Given the description of an element on the screen output the (x, y) to click on. 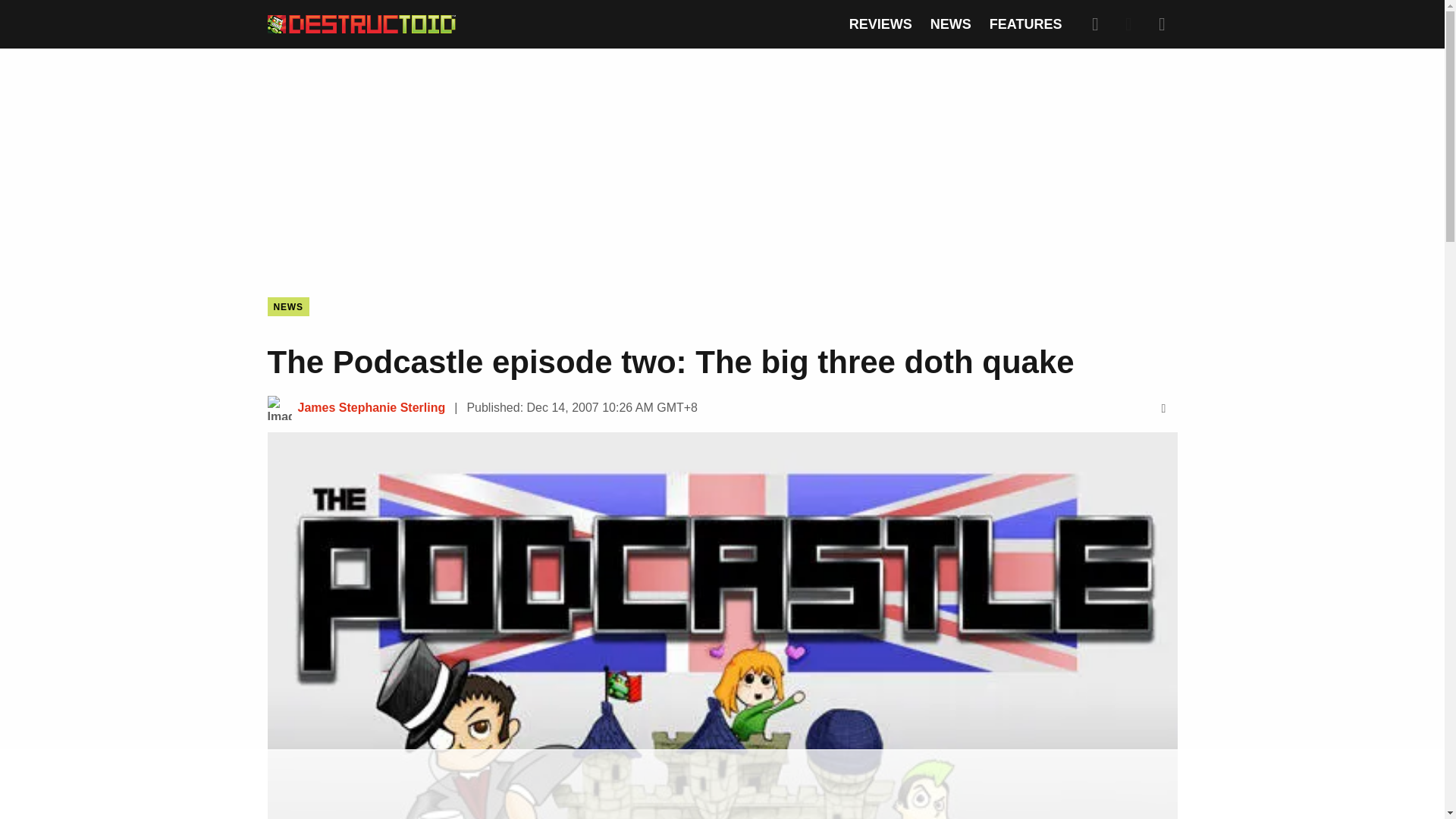
Dark Mode (1127, 24)
FEATURES (1026, 23)
REVIEWS (880, 23)
Expand Menu (1161, 24)
3rd party ad content (721, 785)
3rd party ad content (721, 160)
Search (1094, 24)
NEWS (287, 306)
NEWS (950, 23)
